Given the description of an element on the screen output the (x, y) to click on. 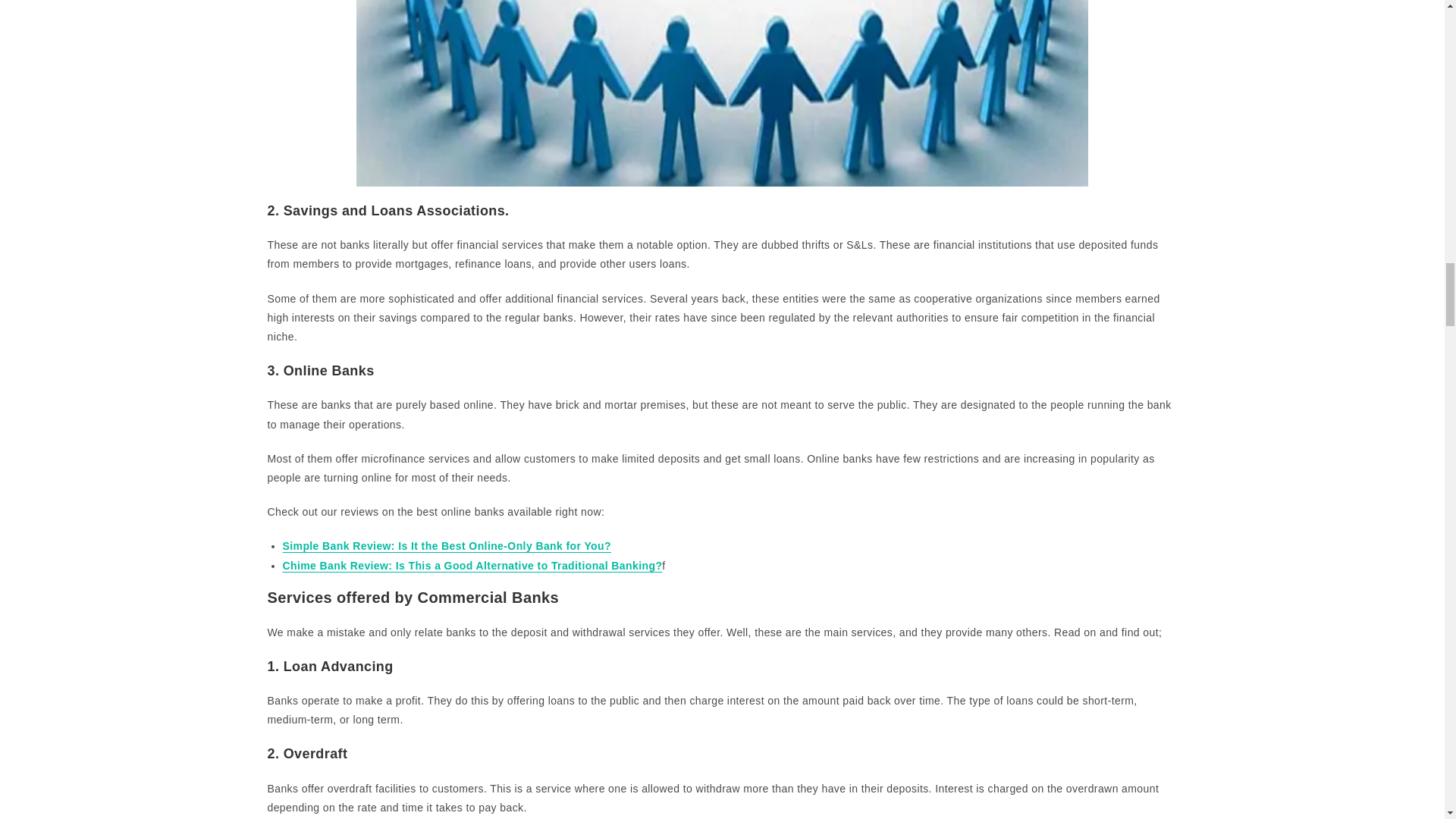
Simple Bank Review: Is It the Best Online-Only Bank for You? (446, 545)
